Given the description of an element on the screen output the (x, y) to click on. 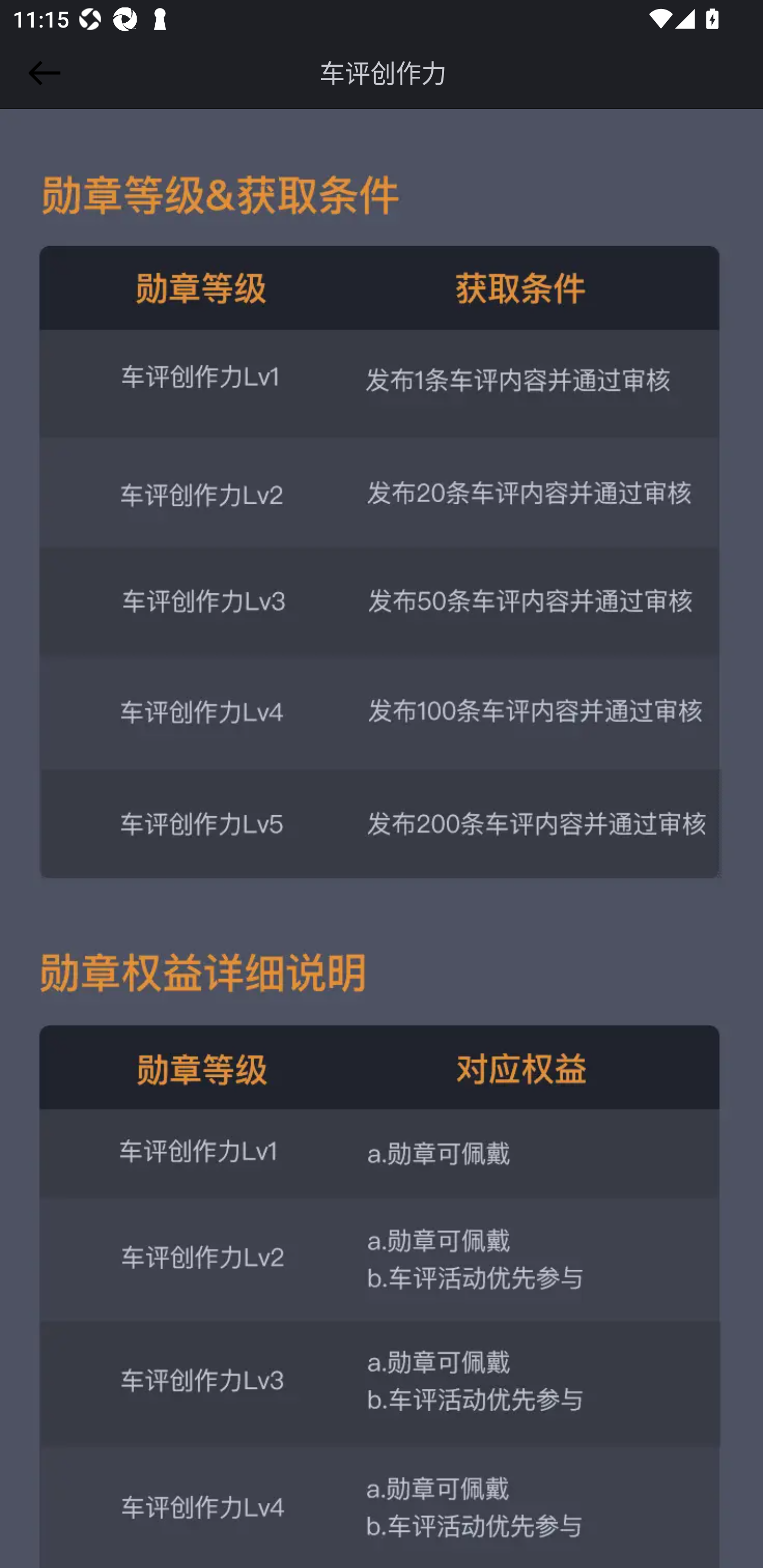
 (41, 72)
